Given the description of an element on the screen output the (x, y) to click on. 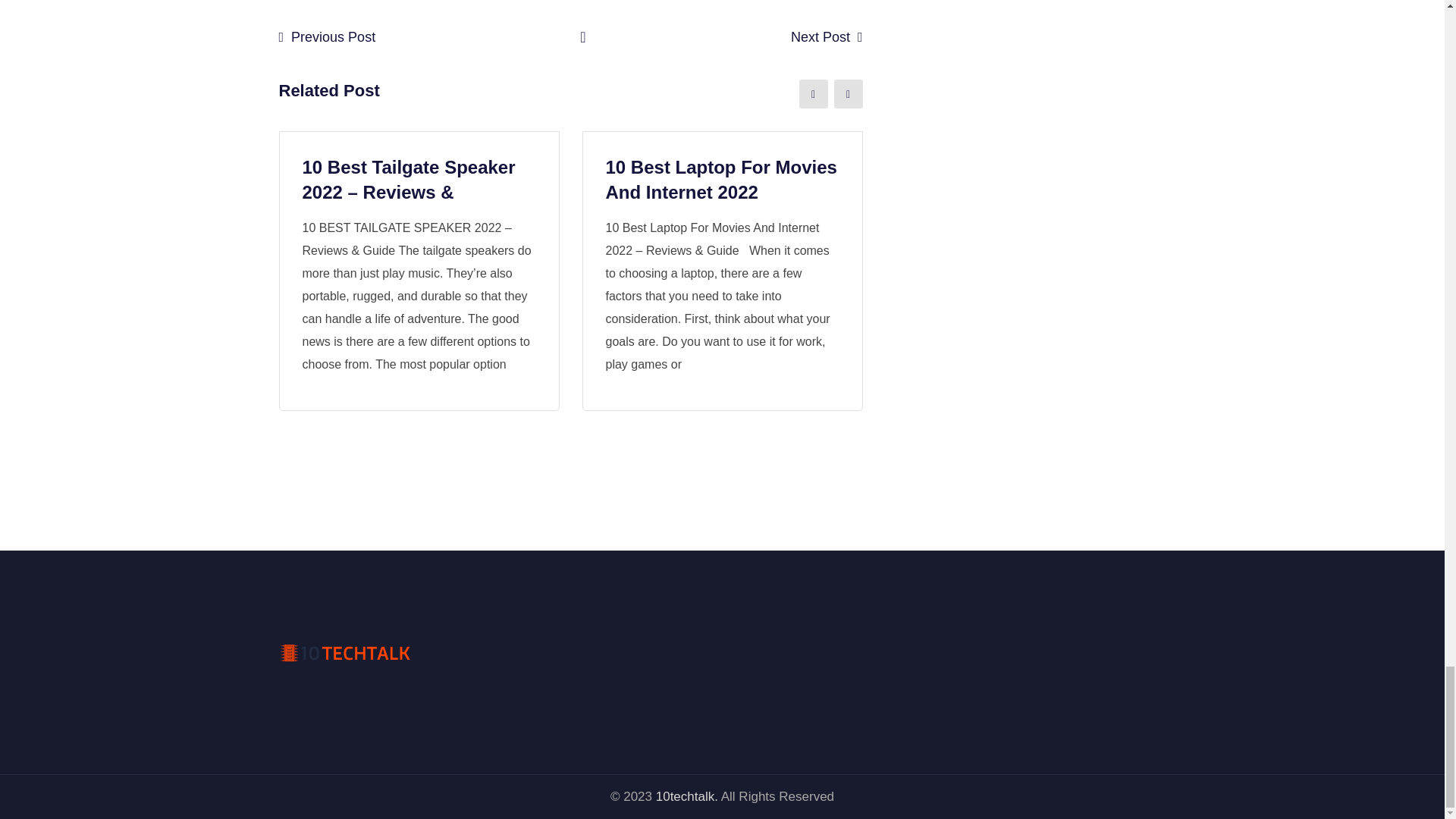
Previous Post (333, 36)
Next Post (820, 36)
10techtalk. (686, 796)
10 Best Laptop For Movies And Internet 2022 (720, 180)
